Given the description of an element on the screen output the (x, y) to click on. 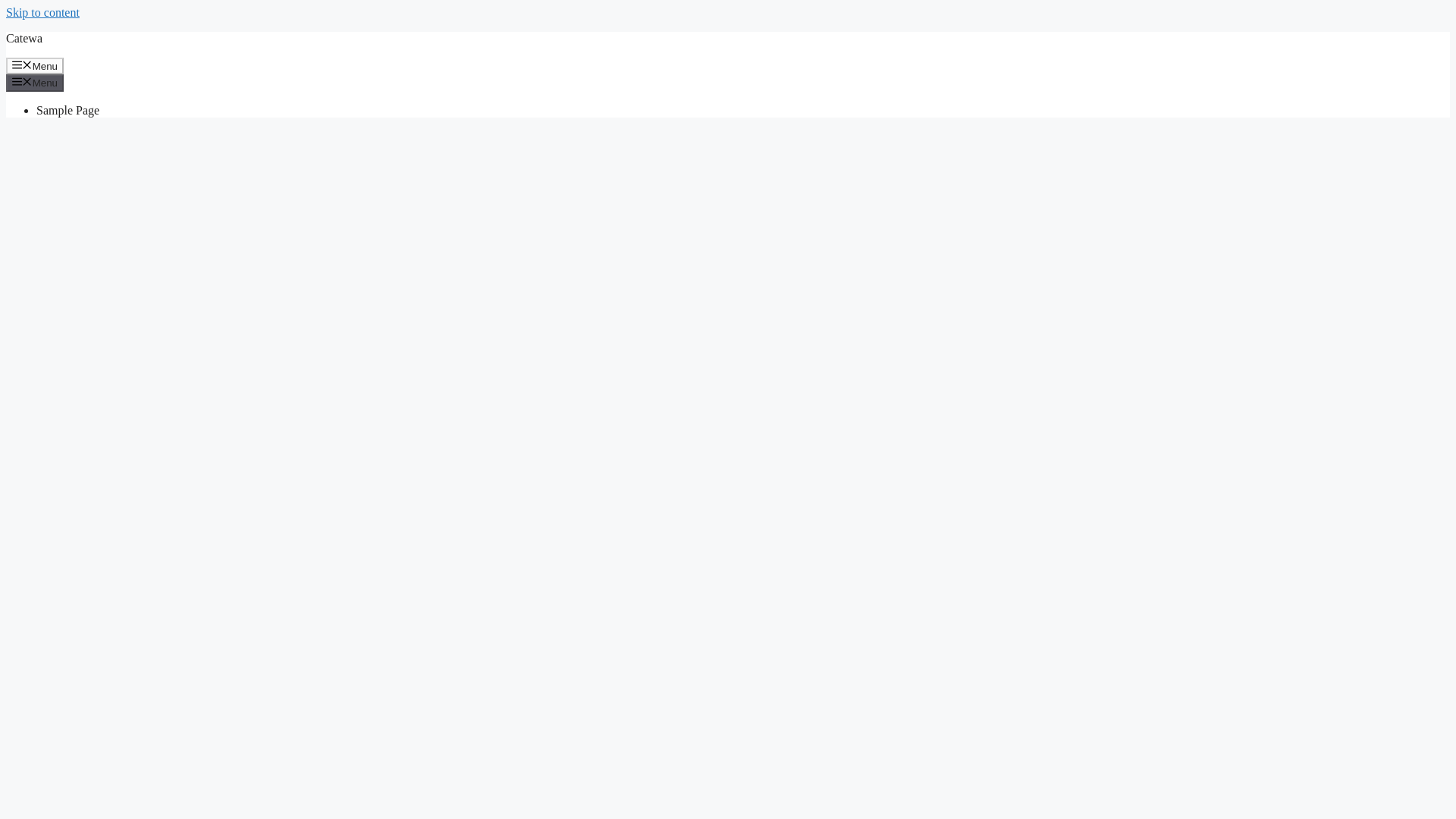
Skip to content (42, 11)
Menu (34, 65)
Skip to content (42, 11)
Catewa (23, 38)
Menu (34, 82)
